Given the description of an element on the screen output the (x, y) to click on. 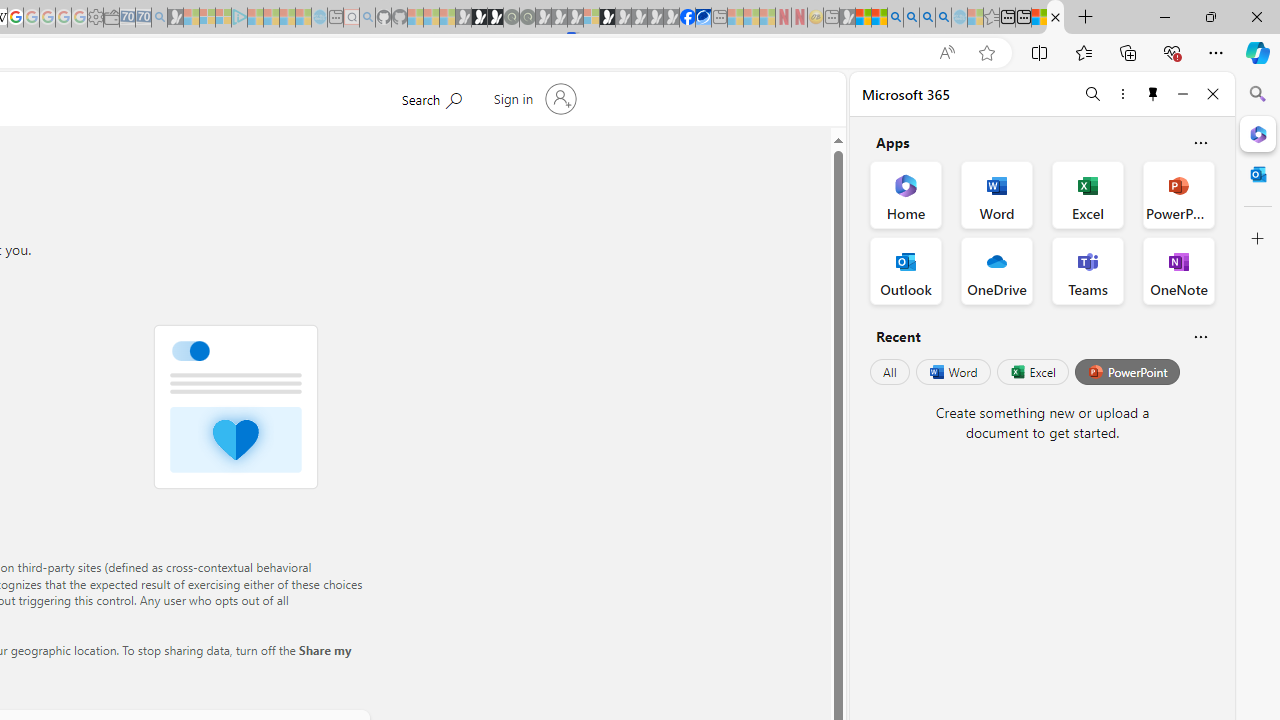
Teams Office App (1087, 270)
OneDrive Office App (996, 270)
2009 Bing officially replaced Live Search on June 3 - Search (911, 17)
Home Office App (906, 194)
Word Office App (996, 194)
Nordace | Facebook (687, 17)
